Given the description of an element on the screen output the (x, y) to click on. 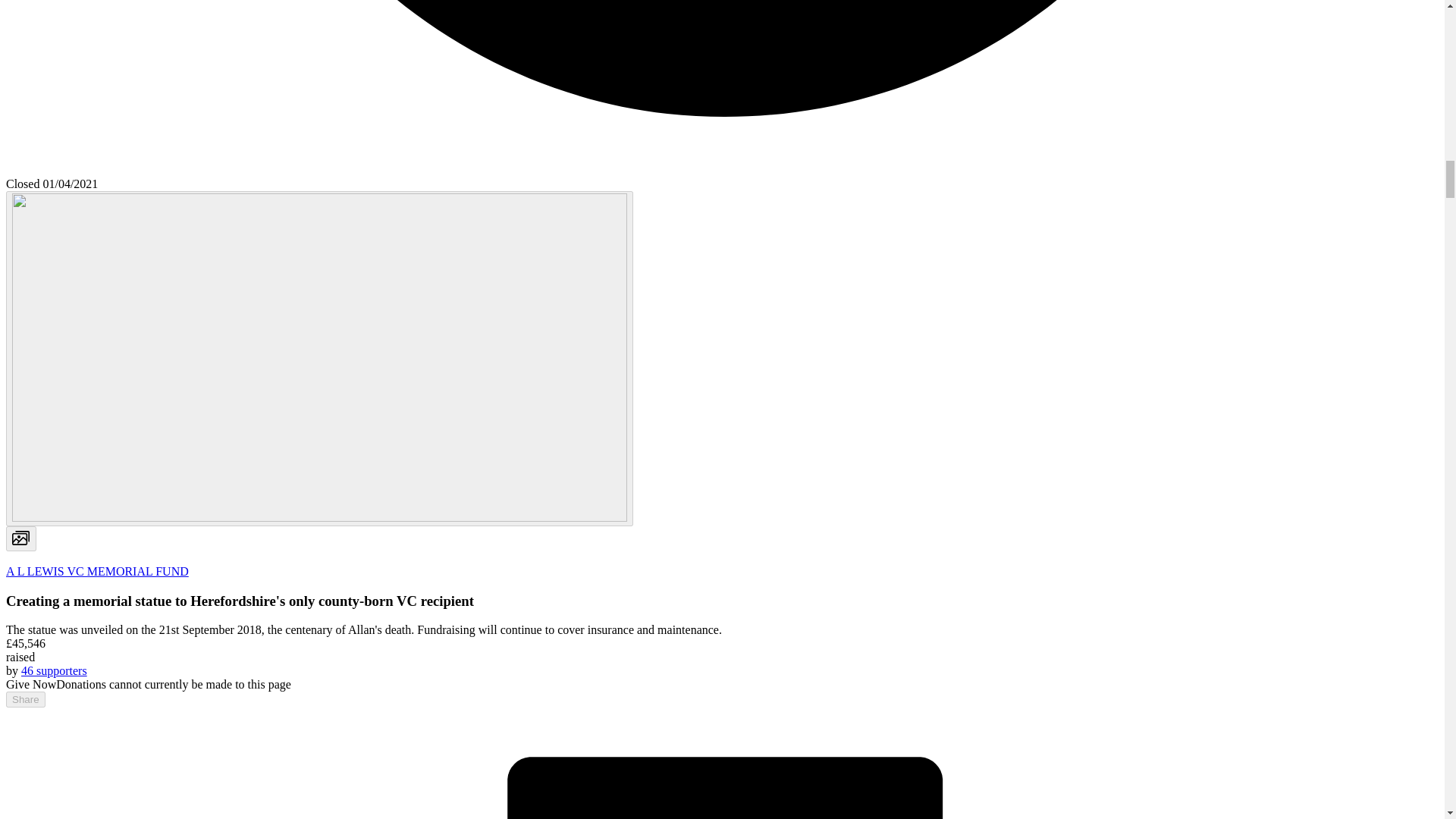
A L LEWIS VC MEMORIAL FUND (97, 571)
Share (25, 699)
46 supporters (54, 670)
